Given the description of an element on the screen output the (x, y) to click on. 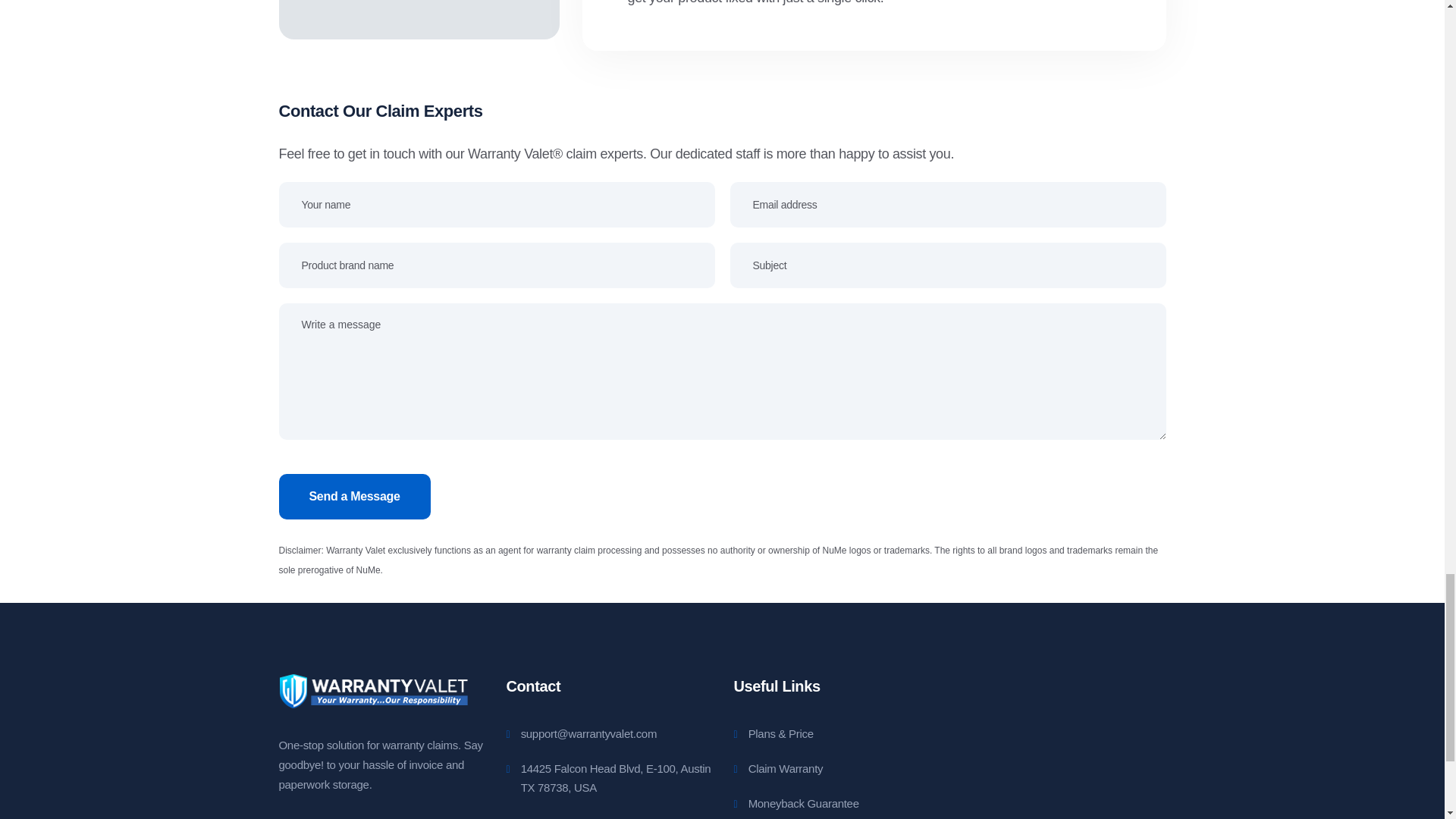
Send a Message (354, 496)
